Given the description of an element on the screen output the (x, y) to click on. 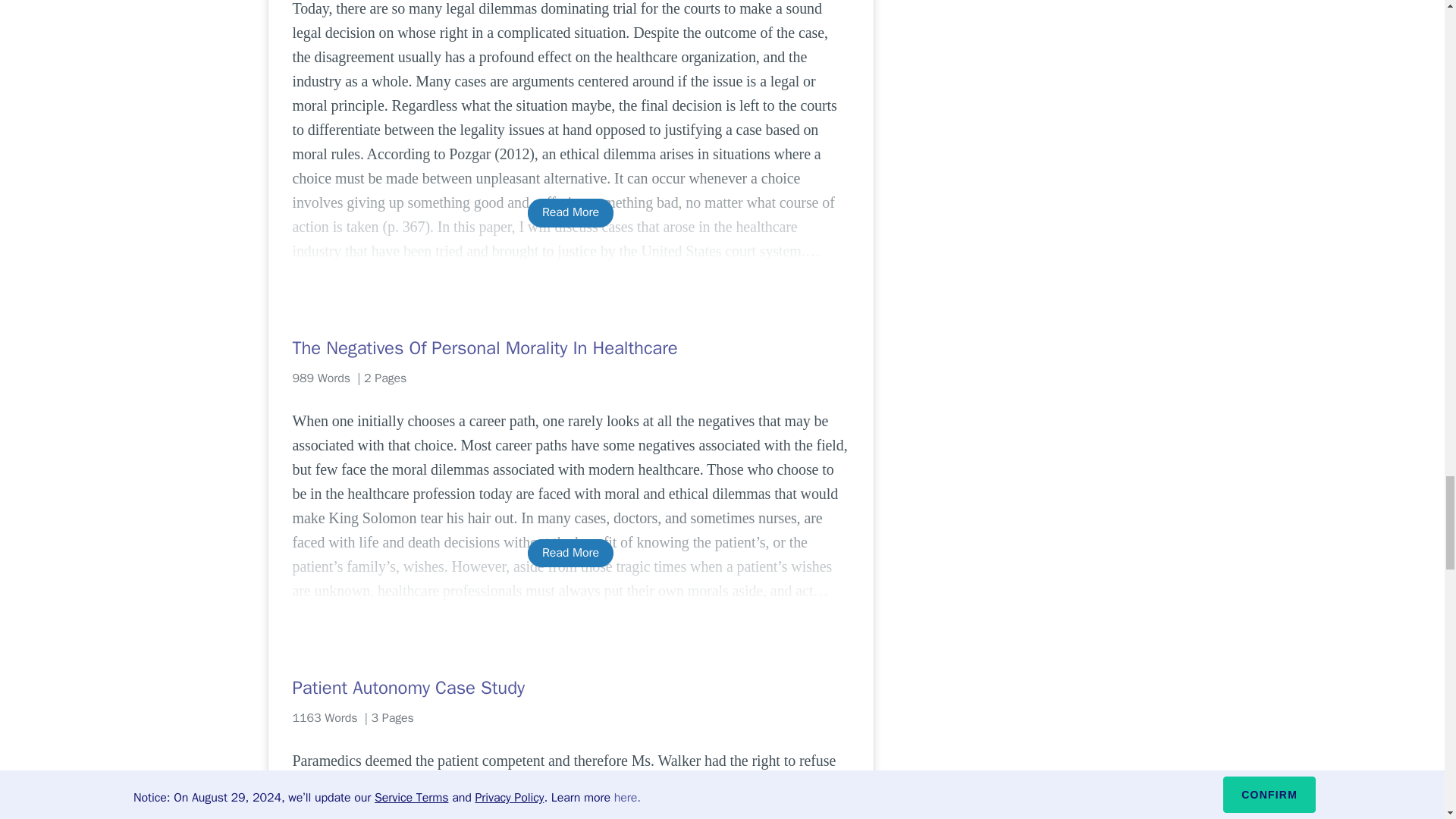
Patient Autonomy Case Study (570, 687)
Read More (569, 552)
The Negatives Of Personal Morality In Healthcare (570, 347)
Read More (569, 212)
